Given the description of an element on the screen output the (x, y) to click on. 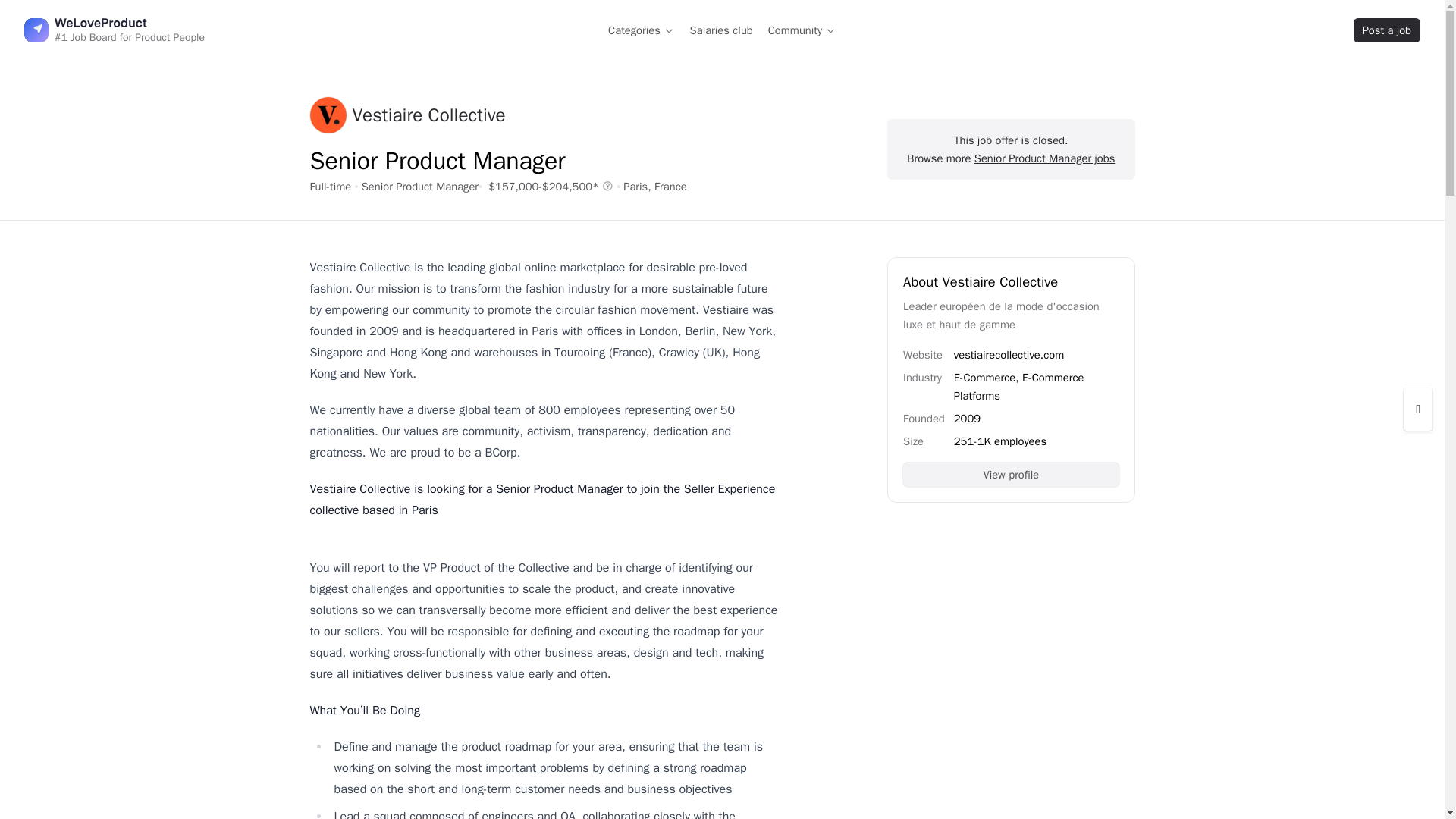
View jobs from Vestiaire Collective (406, 115)
browse more Senior Product Manager jobs (420, 186)
Salaries club (721, 30)
browse more Senior Product Manager jobs (1044, 158)
